Given the description of an element on the screen output the (x, y) to click on. 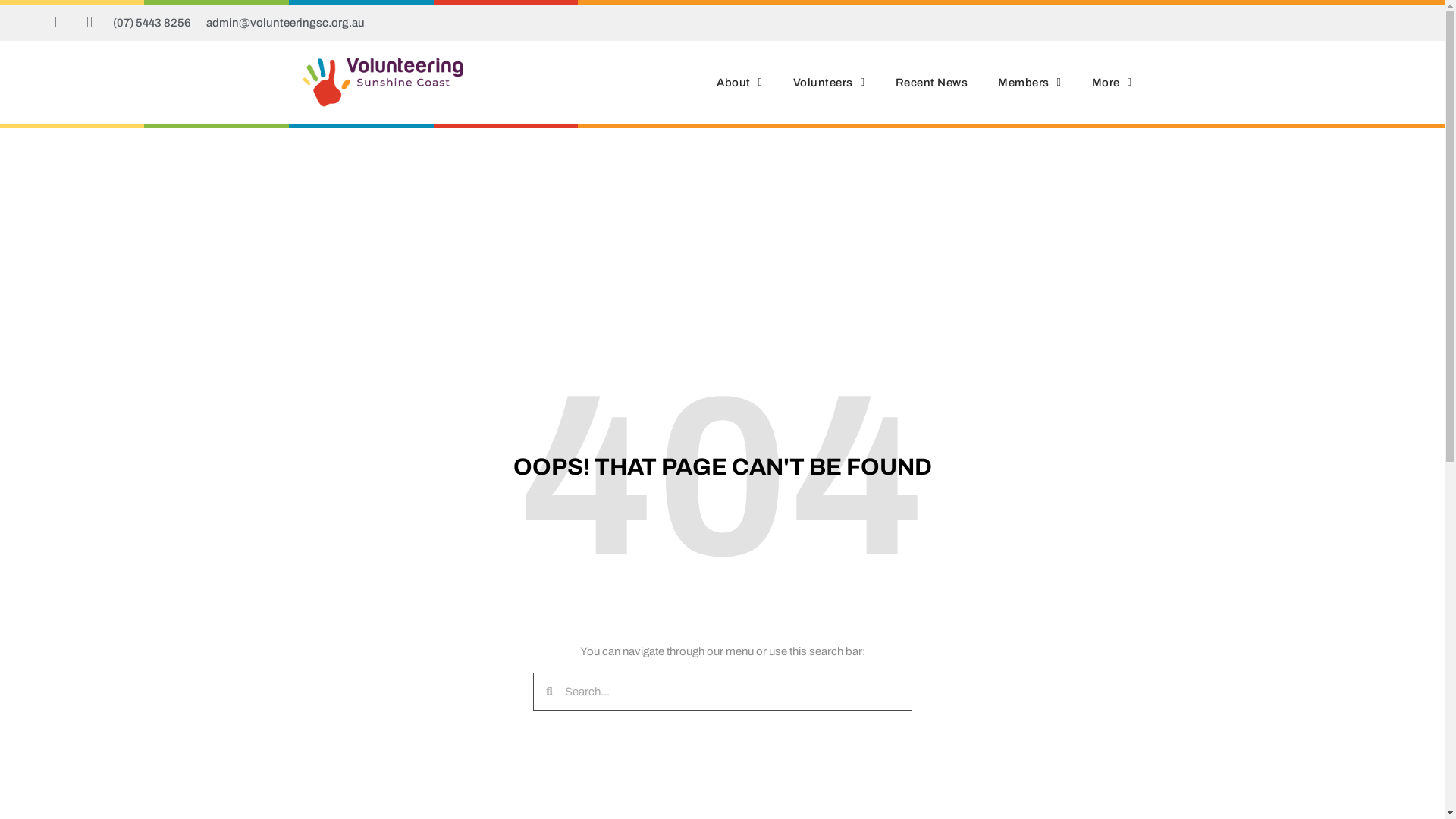
Search Element type: hover (731, 691)
About Element type: text (739, 82)
Members Element type: text (1029, 82)
Volunteers Element type: text (829, 82)
More Element type: text (1111, 82)
admin@volunteeringsc.org.au Element type: text (285, 22)
(07) 5443 8256 Element type: text (151, 22)
Recent News Element type: text (931, 82)
